Given the description of an element on the screen output the (x, y) to click on. 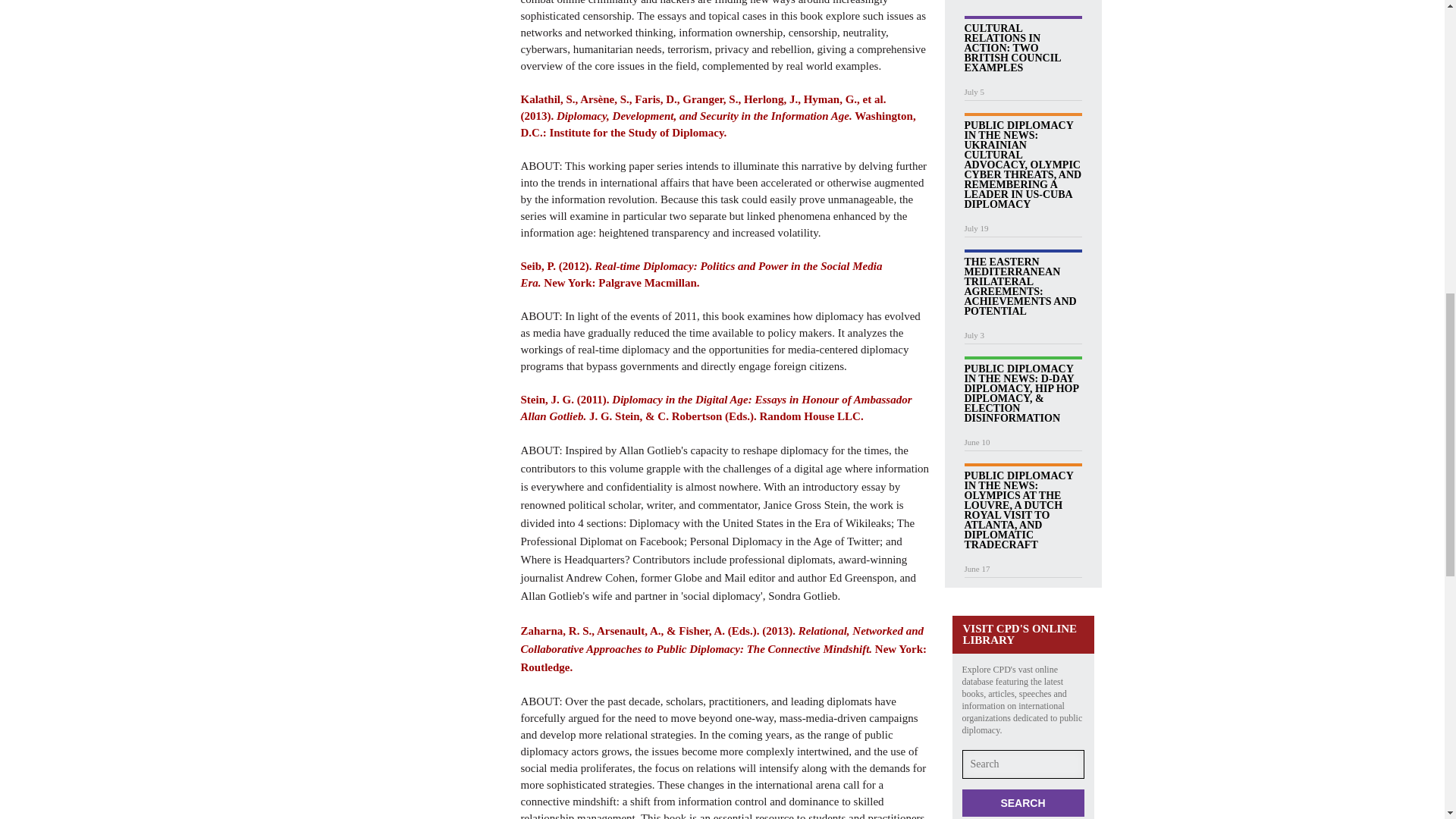
search (1021, 802)
